Given the description of an element on the screen output the (x, y) to click on. 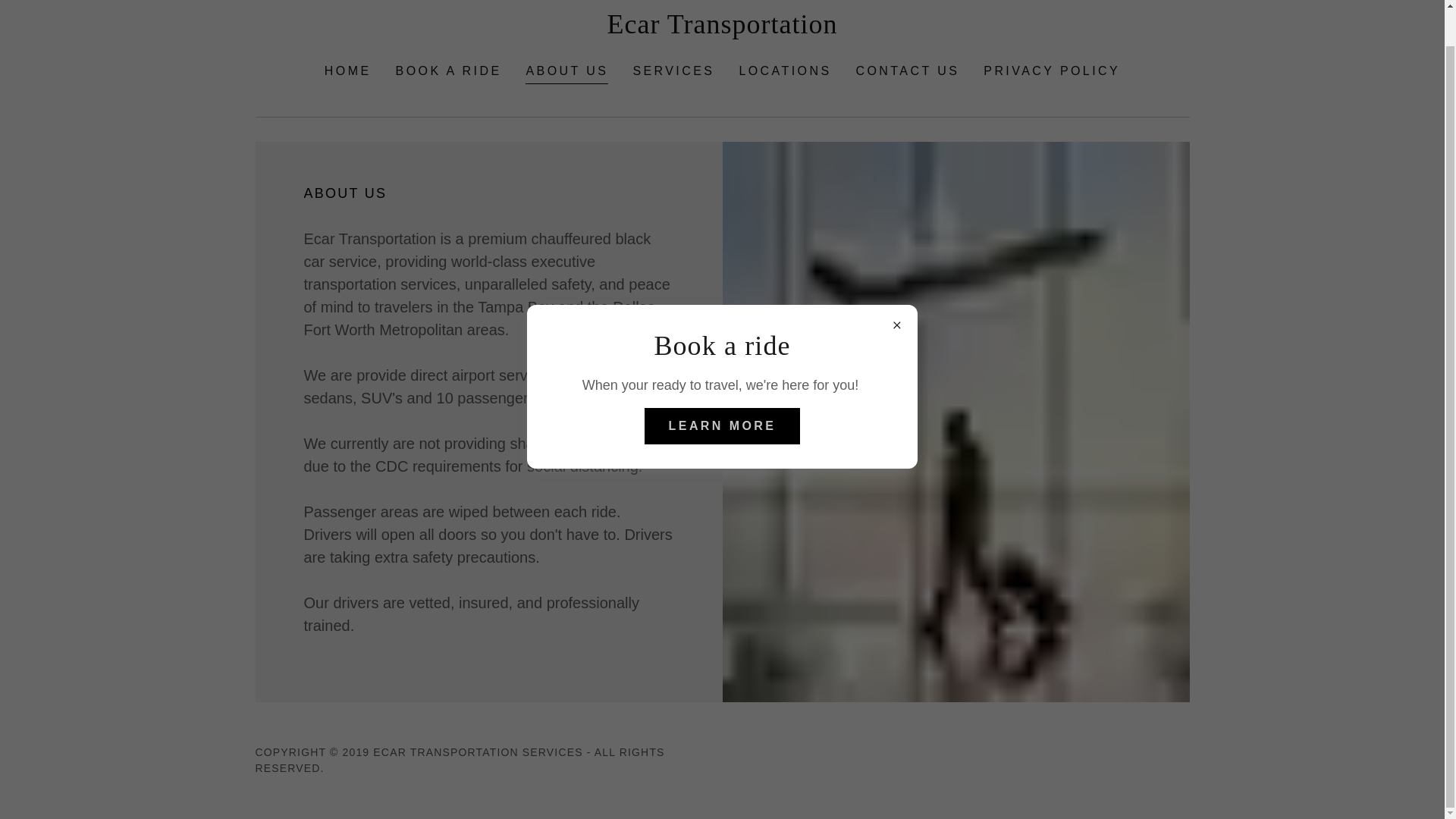
HOME (347, 71)
CONTACT US (907, 71)
LOCATIONS (784, 71)
PRIVACY POLICY (1051, 71)
BOOK A RIDE (448, 71)
ABOUT US (566, 73)
Ecar Transportation   (721, 28)
SERVICES (673, 71)
LEARN MORE (722, 388)
Ecar Transportation (721, 28)
